Given the description of an element on the screen output the (x, y) to click on. 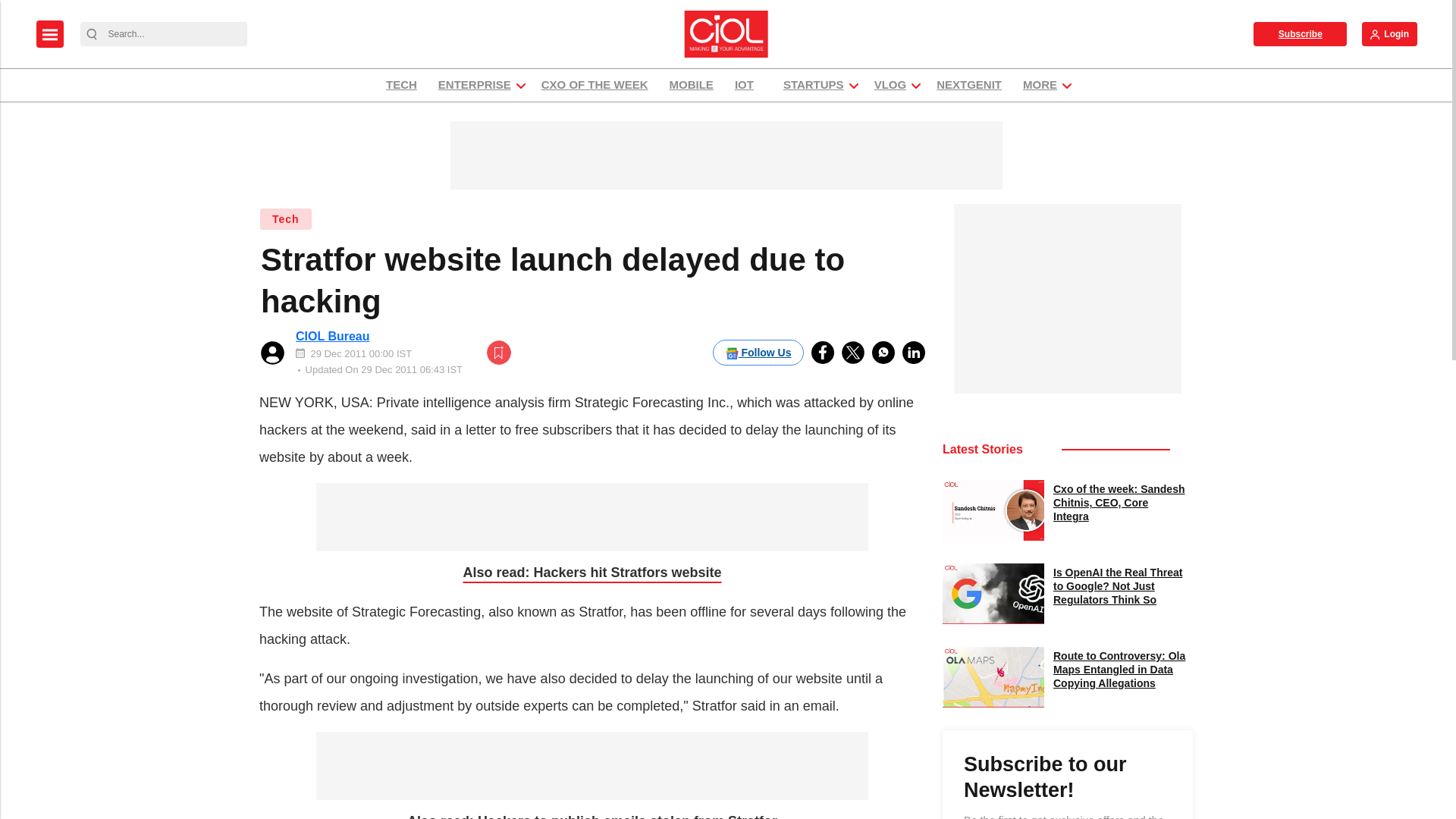
STARTUPS (812, 84)
MORE (1039, 84)
Login (1388, 33)
NEXTGENIT (969, 84)
VLOG (890, 84)
CXO OF THE WEEK (594, 84)
TECH (401, 84)
Subscribe (1299, 33)
MOBILE (691, 84)
IOT (748, 84)
